Given the description of an element on the screen output the (x, y) to click on. 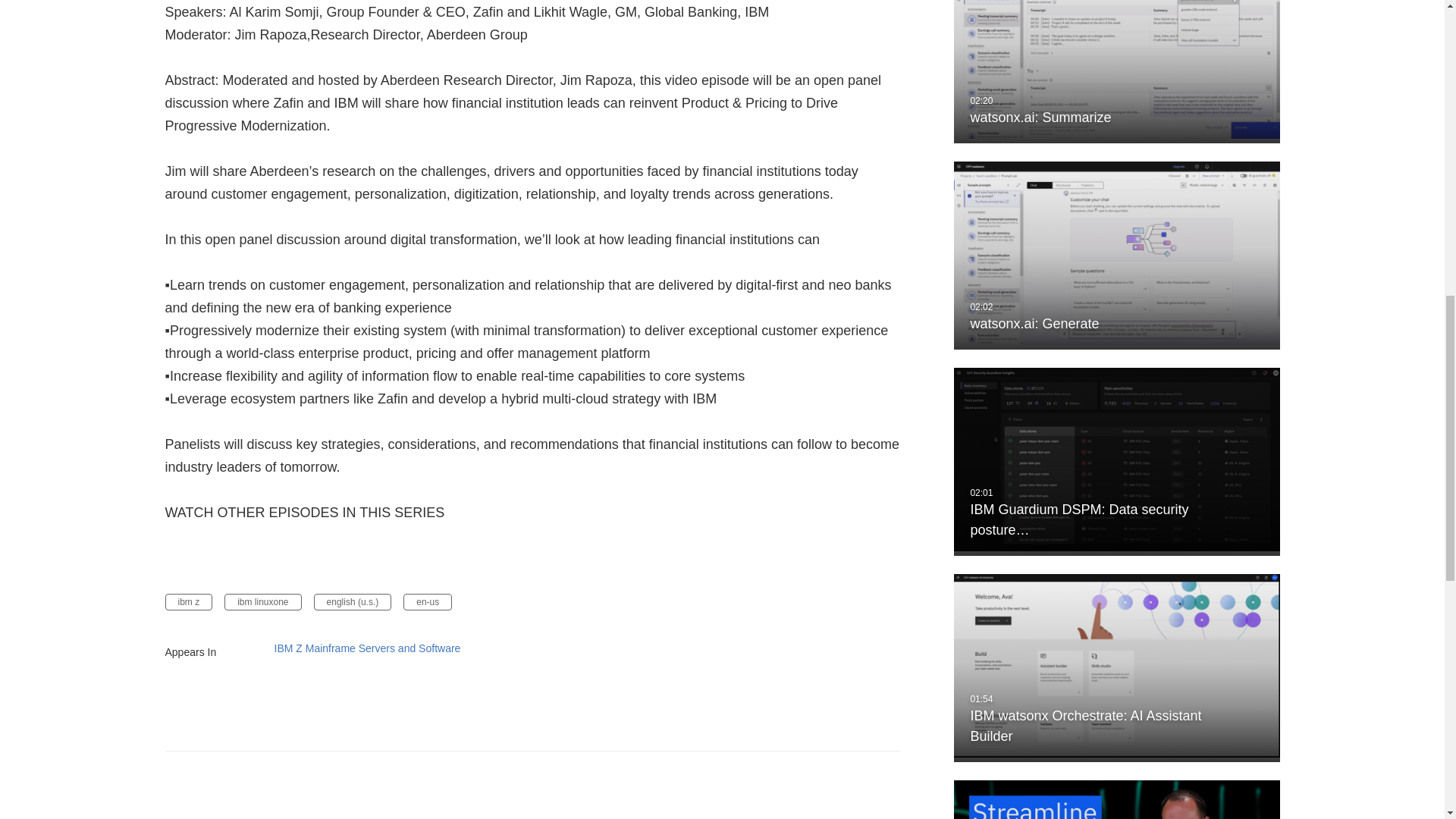
IBM watsonx Orchestrate: AI Assistant Builder (1116, 668)
Appears In (210, 651)
watsonx.ai: Summarize (1116, 71)
IBM Guardium DSPM: Data security posture management (1116, 461)
watsonx.ai: Generate (1116, 255)
IBM Concert Overview (1116, 799)
